Given the description of an element on the screen output the (x, y) to click on. 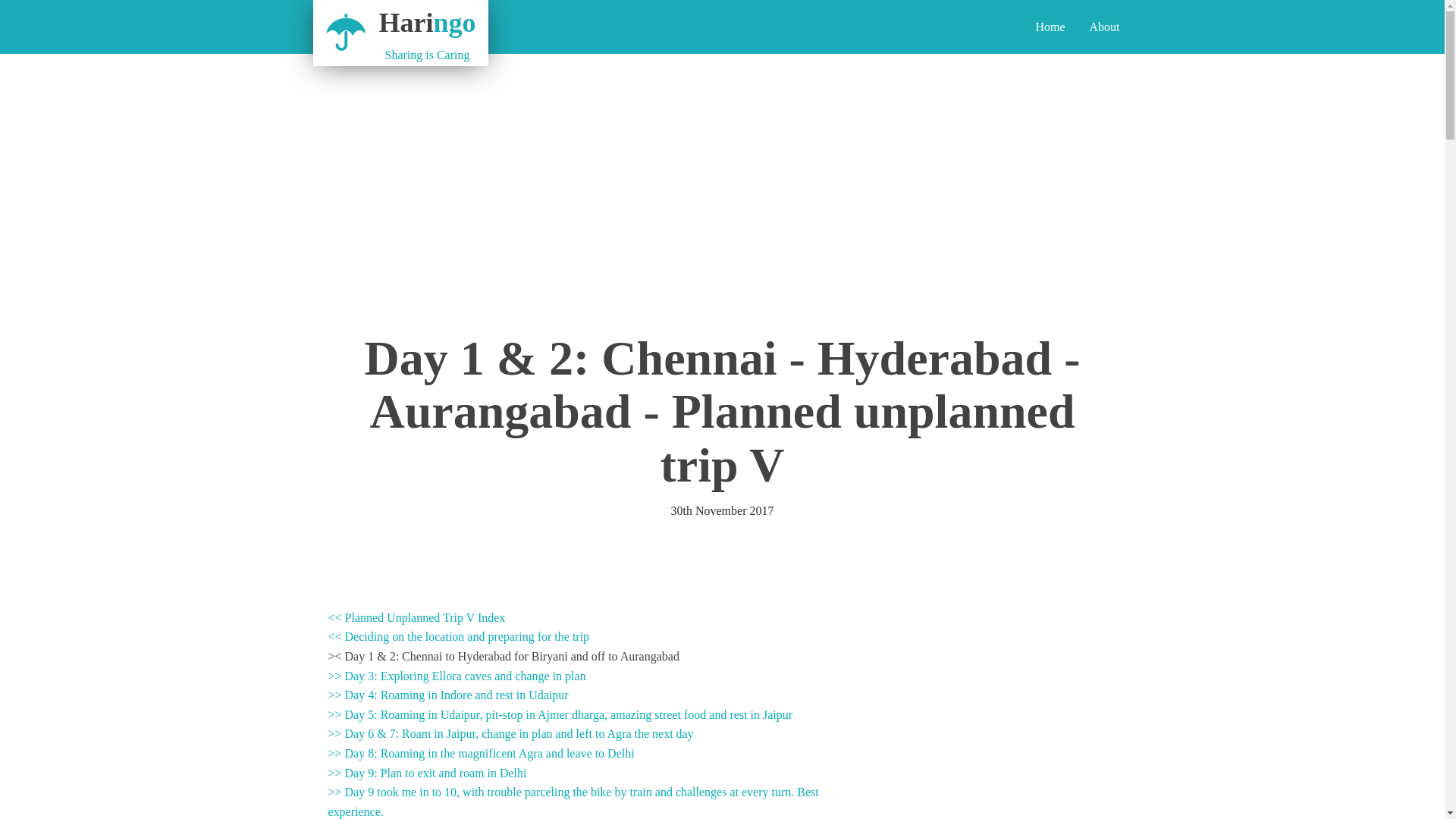
Advertisement (400, 27)
Advertisement (1008, 742)
Home (1104, 26)
